Given the description of an element on the screen output the (x, y) to click on. 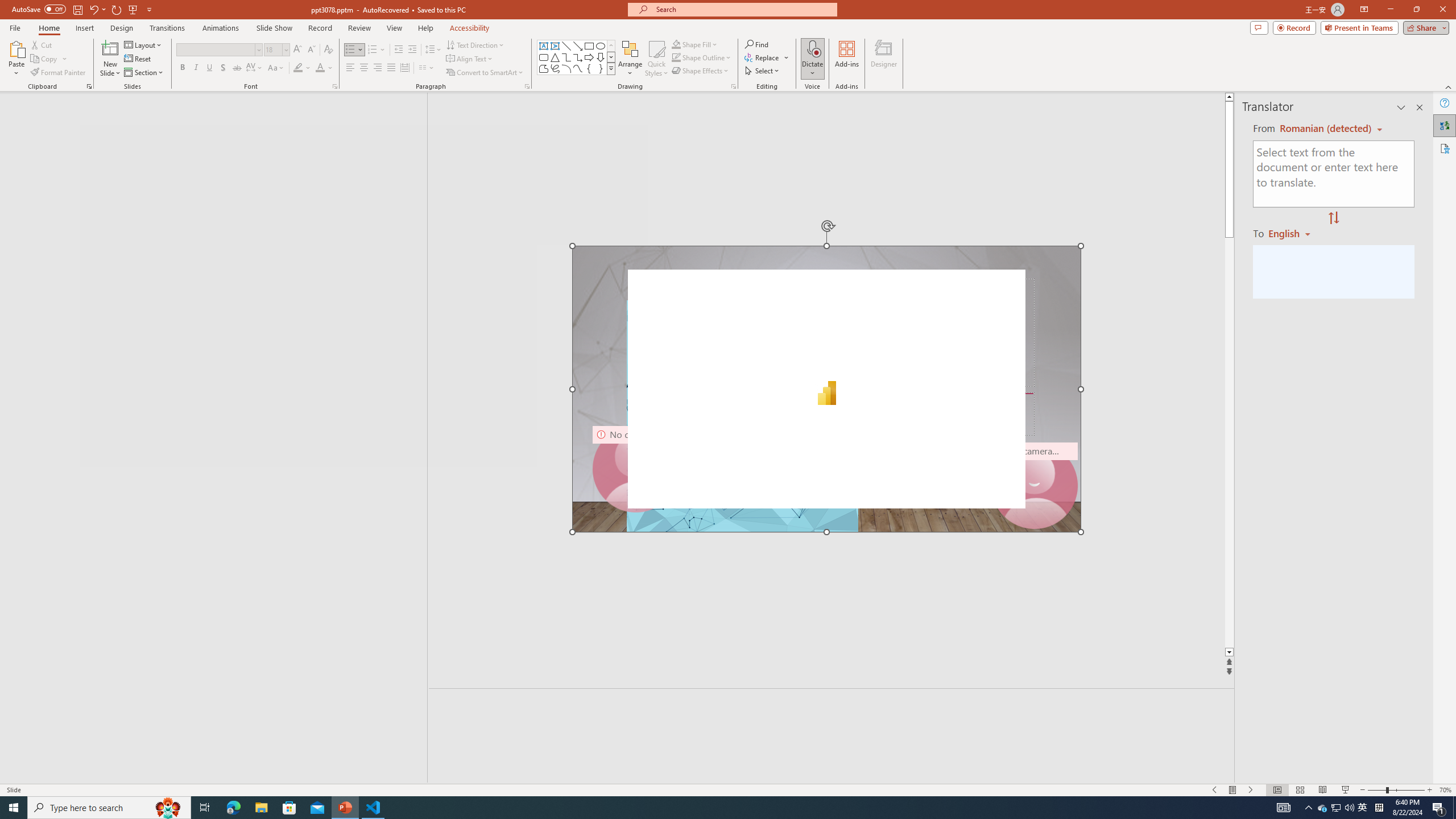
Romanian (detected) (1323, 128)
